Given the description of an element on the screen output the (x, y) to click on. 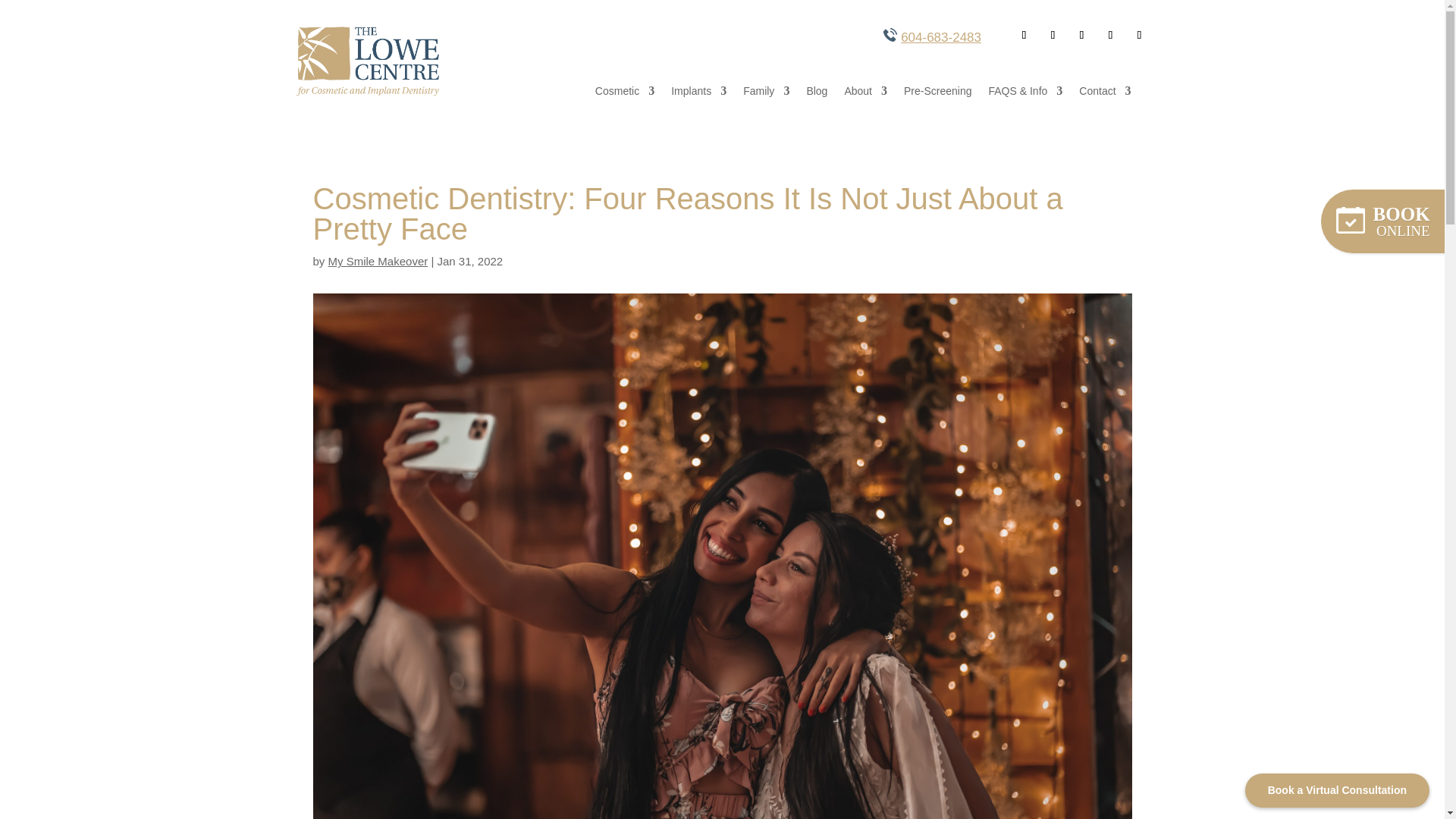
Blog (816, 93)
Contact (1104, 93)
Implants (698, 93)
Follow on Instagram (1138, 34)
Follow on Youtube (1081, 34)
Follow on X (1052, 34)
604-683-2483 (941, 37)
Follow on LinkedIn (1110, 34)
About (865, 93)
Pre-Screening (938, 93)
Family (765, 93)
The Low CENTRE LOGO (369, 60)
Posts by My Smile Makeover (378, 260)
Cosmetic (624, 93)
